Given the description of an element on the screen output the (x, y) to click on. 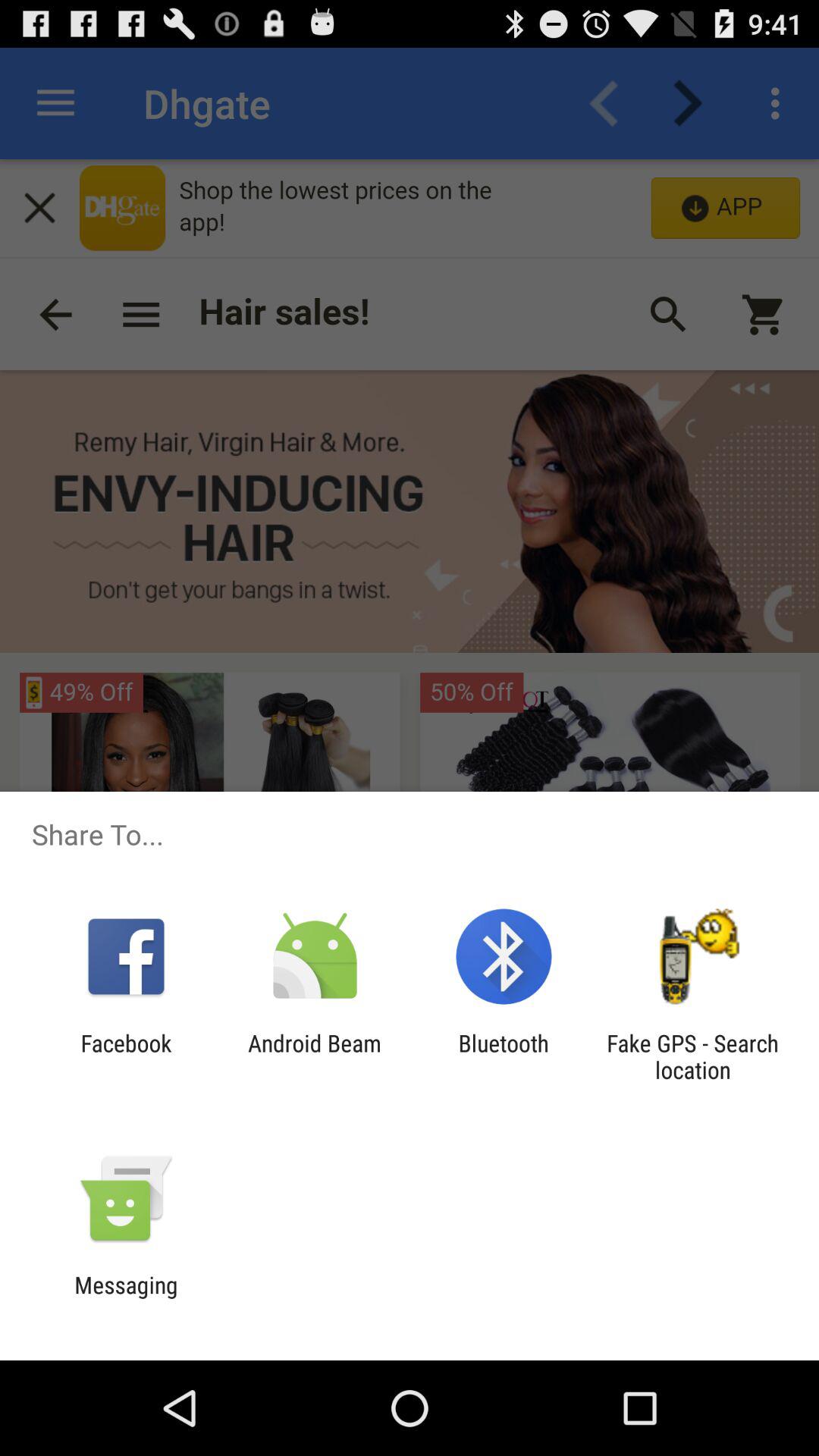
flip to facebook (125, 1056)
